Given the description of an element on the screen output the (x, y) to click on. 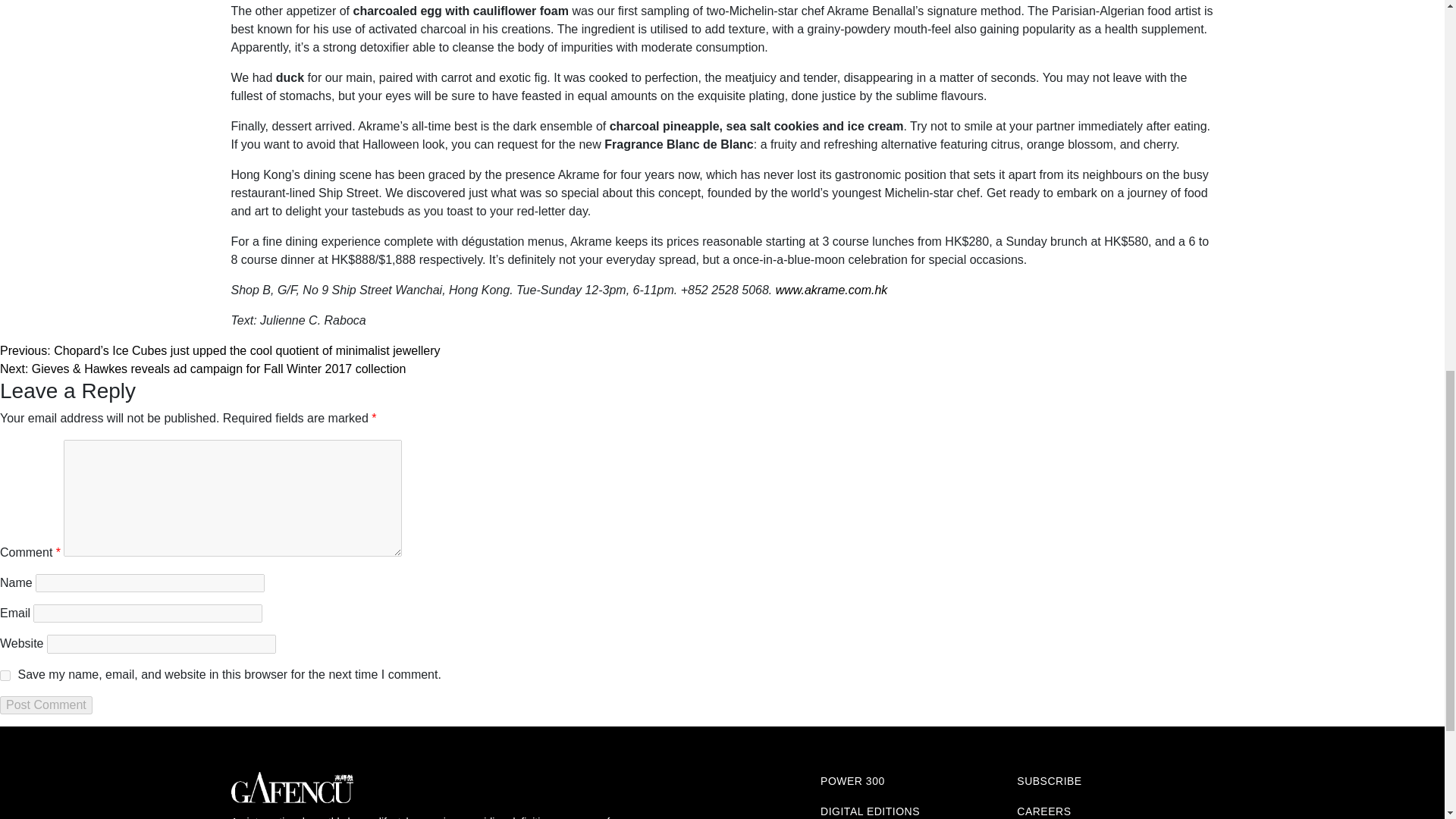
yes (5, 675)
DIGITAL EDITIONS (870, 811)
POWER 300 (853, 780)
CAREERS (1043, 811)
SUBSCRIBE (1048, 780)
Post Comment (46, 705)
